Given the description of an element on the screen output the (x, y) to click on. 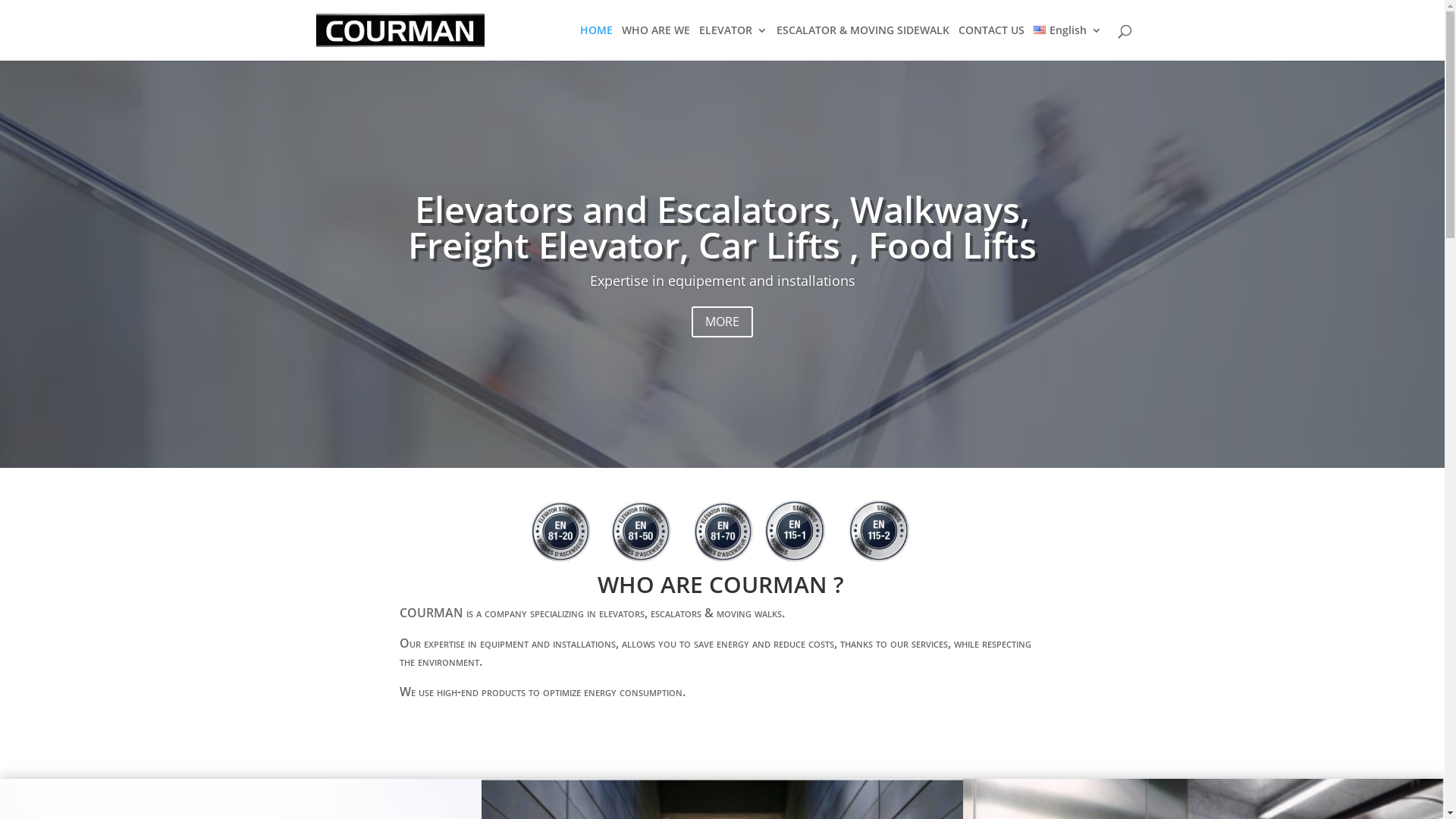
CONTACT US Element type: text (991, 42)
English Element type: hover (1039, 29)
HOME Element type: text (596, 42)
MORE Element type: text (722, 321)
WHO ARE WE Element type: text (655, 42)
ELEVATOR Element type: text (733, 42)
ESCALATOR & MOVING SIDEWALK Element type: text (862, 42)
English Element type: text (1067, 42)
